Given the description of an element on the screen output the (x, y) to click on. 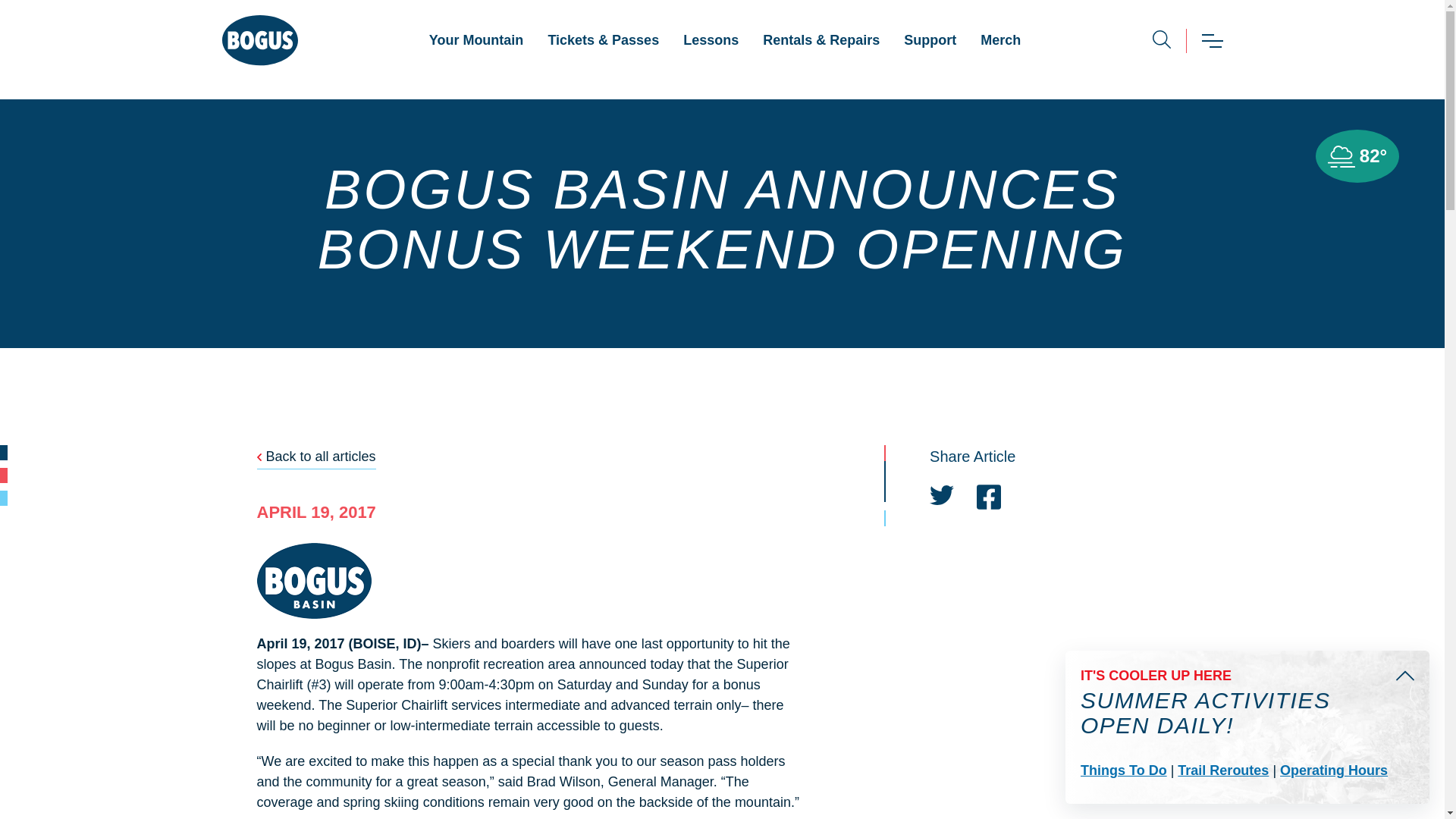
Lessons (711, 40)
Your Mountain (475, 40)
